Given the description of an element on the screen output the (x, y) to click on. 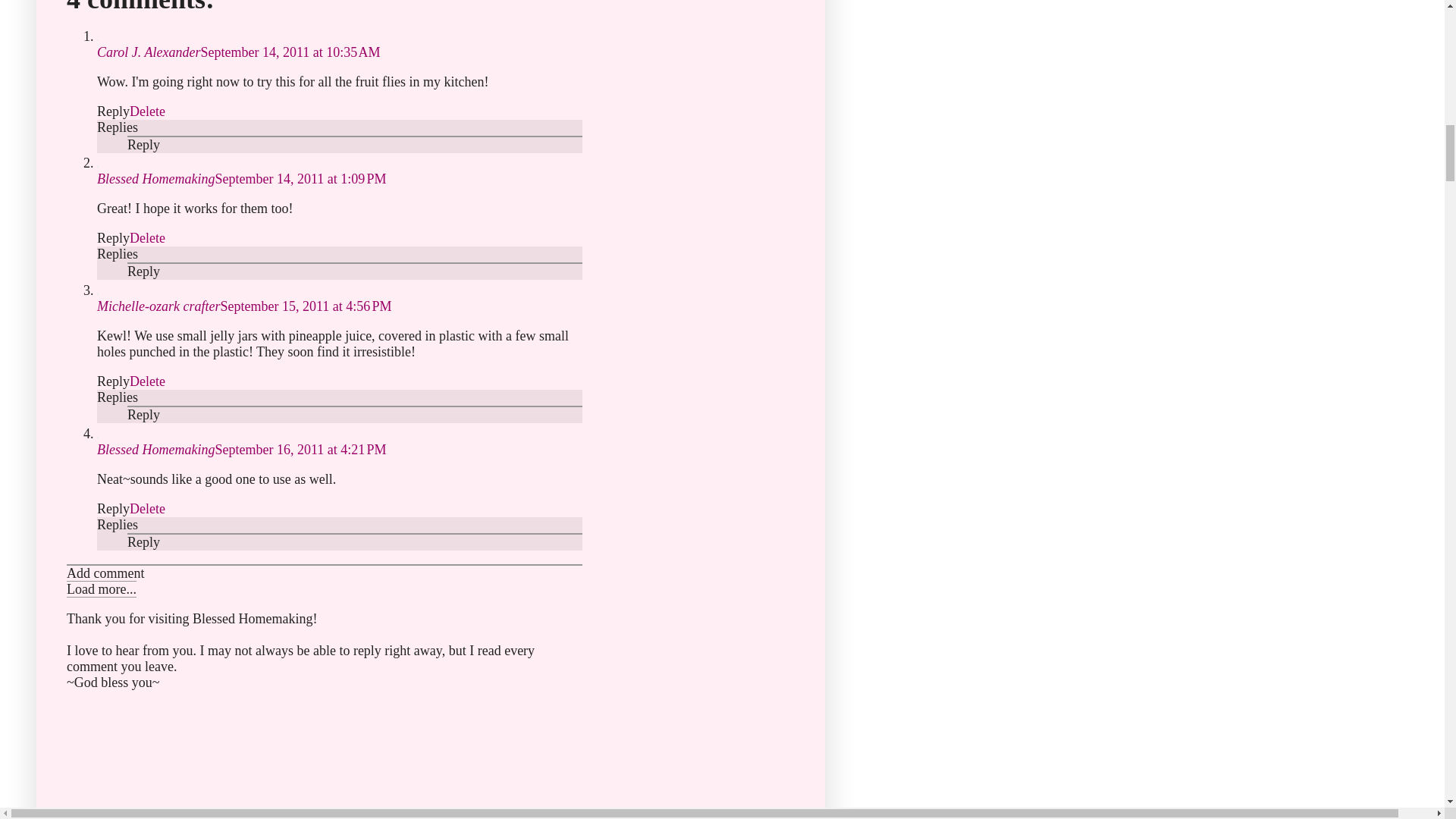
Reply (113, 381)
Reply (144, 271)
Carol J. Alexander (148, 52)
Reply (113, 111)
Delete (147, 111)
Delete (147, 237)
Reply (144, 144)
Reply (113, 237)
Delete (147, 381)
Michelle-ozark crafter (158, 305)
Replies (117, 127)
Replies (117, 253)
